Given the description of an element on the screen output the (x, y) to click on. 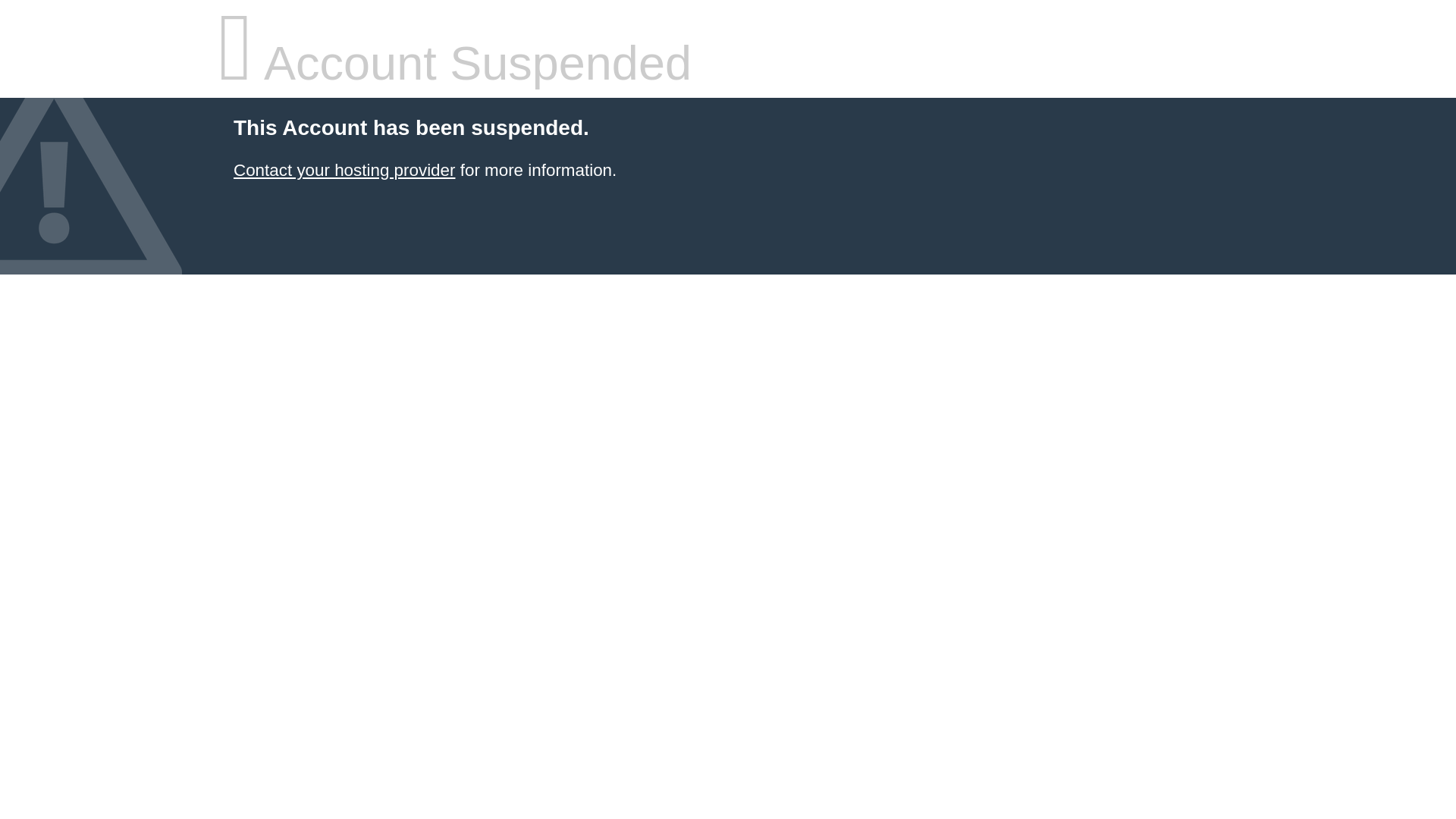
Contact your hosting provider (343, 169)
